Given the description of an element on the screen output the (x, y) to click on. 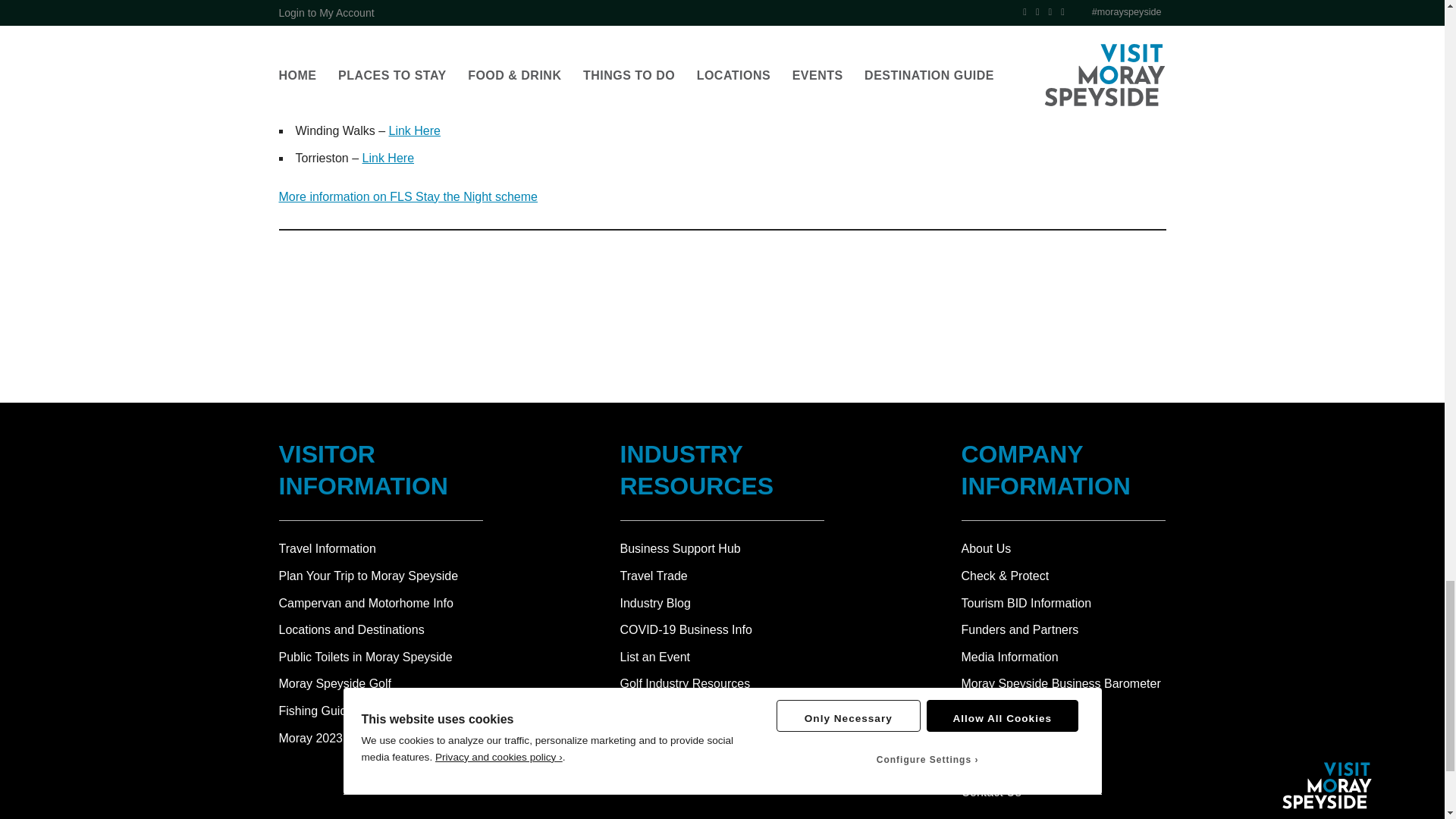
Business Support Hub (680, 548)
Travel Trade (653, 575)
Campervan and Motorhome Info (381, 603)
Fishing Guide (381, 711)
Link Here (400, 103)
Travel Information (381, 548)
Moray Speyside Golf (381, 683)
Plan Your Trip to Moray Speyside (381, 576)
Locations and Destinations (381, 629)
More information on FLS Stay the Night scheme (408, 196)
Link Here (387, 157)
Moray 2023 (381, 738)
Link Here (413, 130)
Public Toilets in Moray Speyside (381, 657)
